Given the description of an element on the screen output the (x, y) to click on. 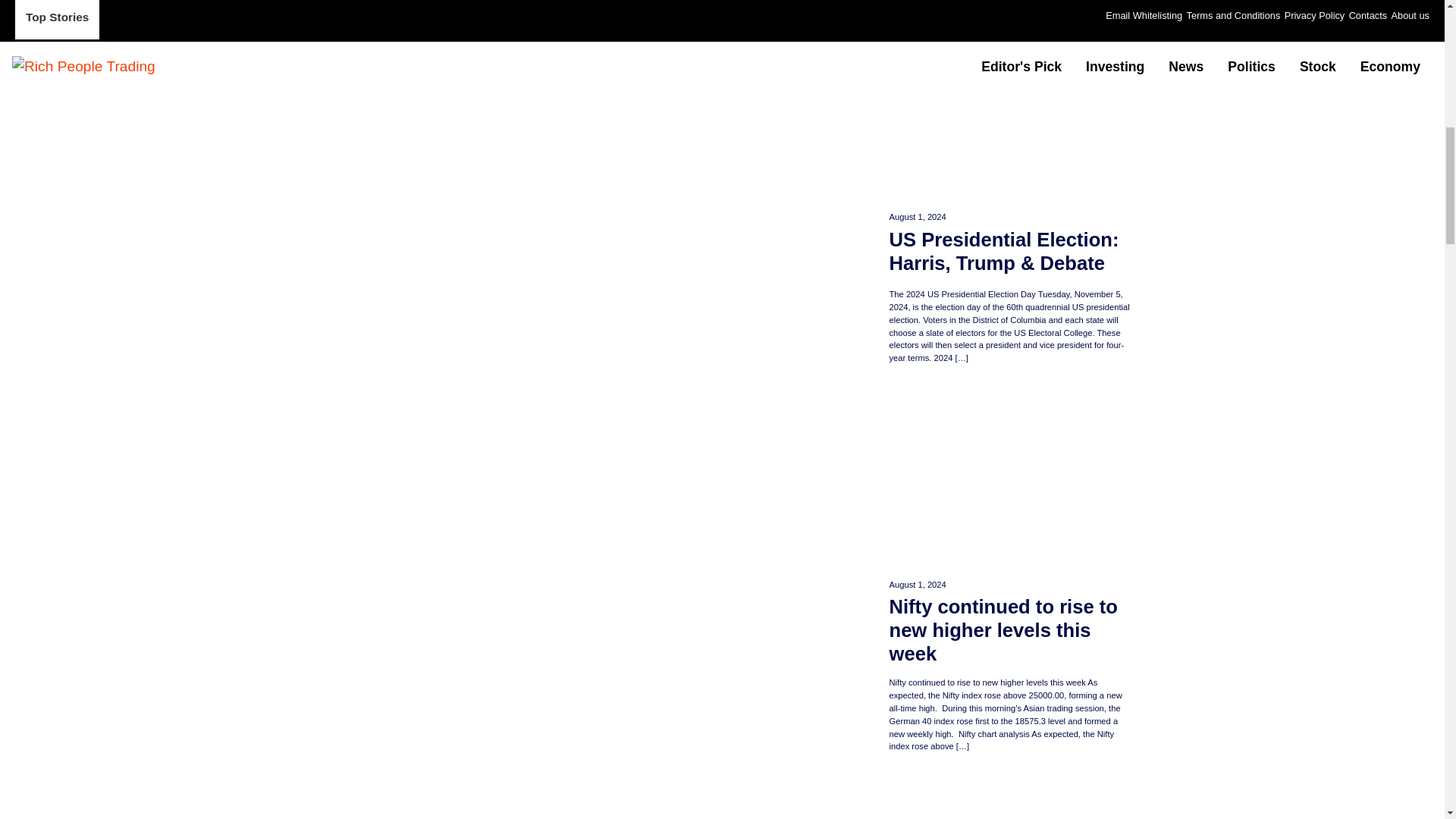
Nifty continued to rise to new higher levels this week (1009, 630)
The Euro index continues to fall, Yen looks for support (1009, 796)
Nifty continued to rise to new higher levels this week (1009, 630)
Nifty continued to rise to new higher levels this week (1009, 475)
